Given the description of an element on the screen output the (x, y) to click on. 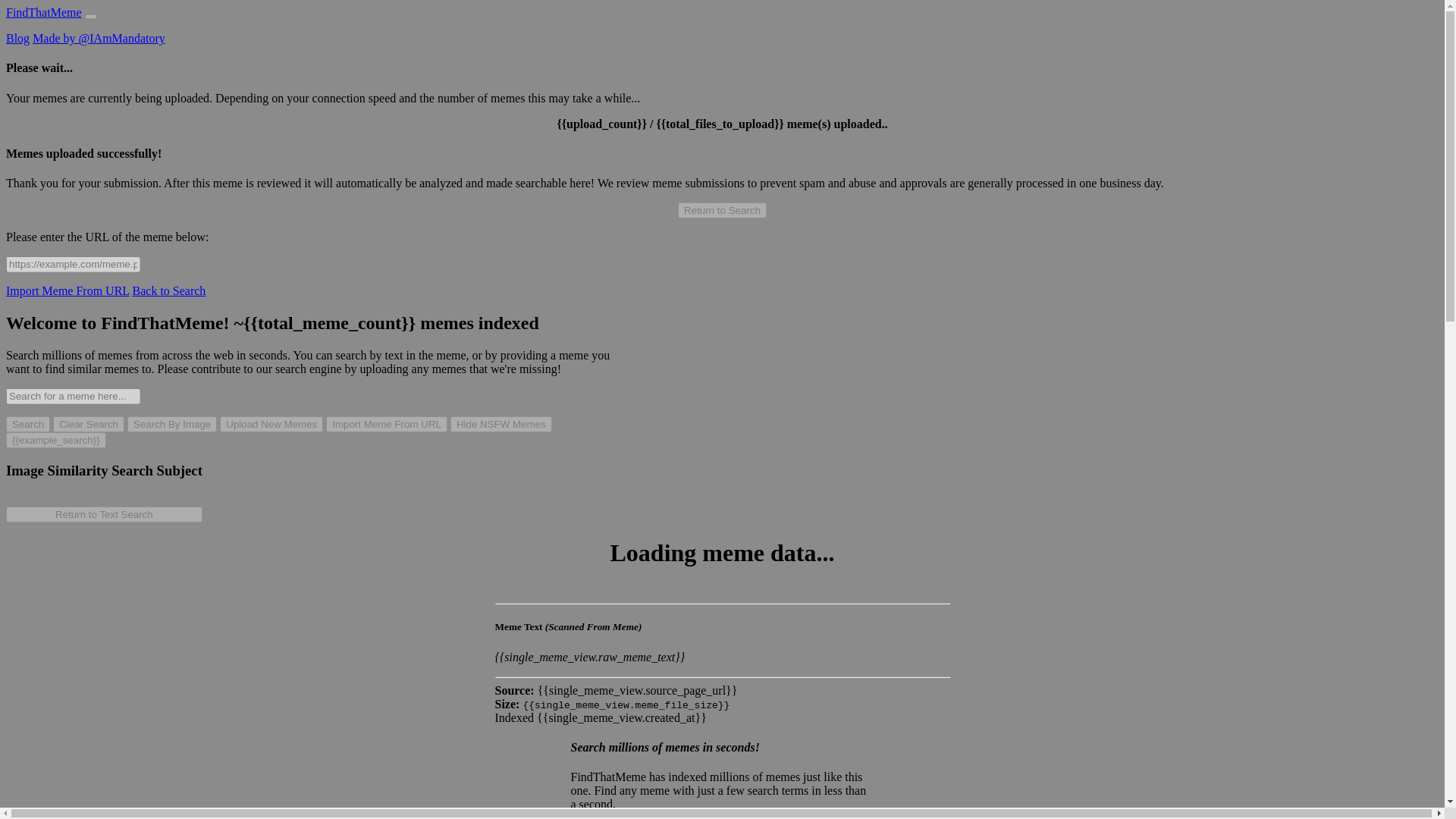
Clear Search (87, 424)
Search By Image (172, 424)
Back to Search (168, 290)
Hide NSFW Memes (500, 424)
FindThatMeme (43, 11)
Search (27, 424)
Return to Search (722, 210)
Upload New Memes (271, 424)
Import Meme From URL (67, 290)
Import Meme From URL (386, 424)
